Given the description of an element on the screen output the (x, y) to click on. 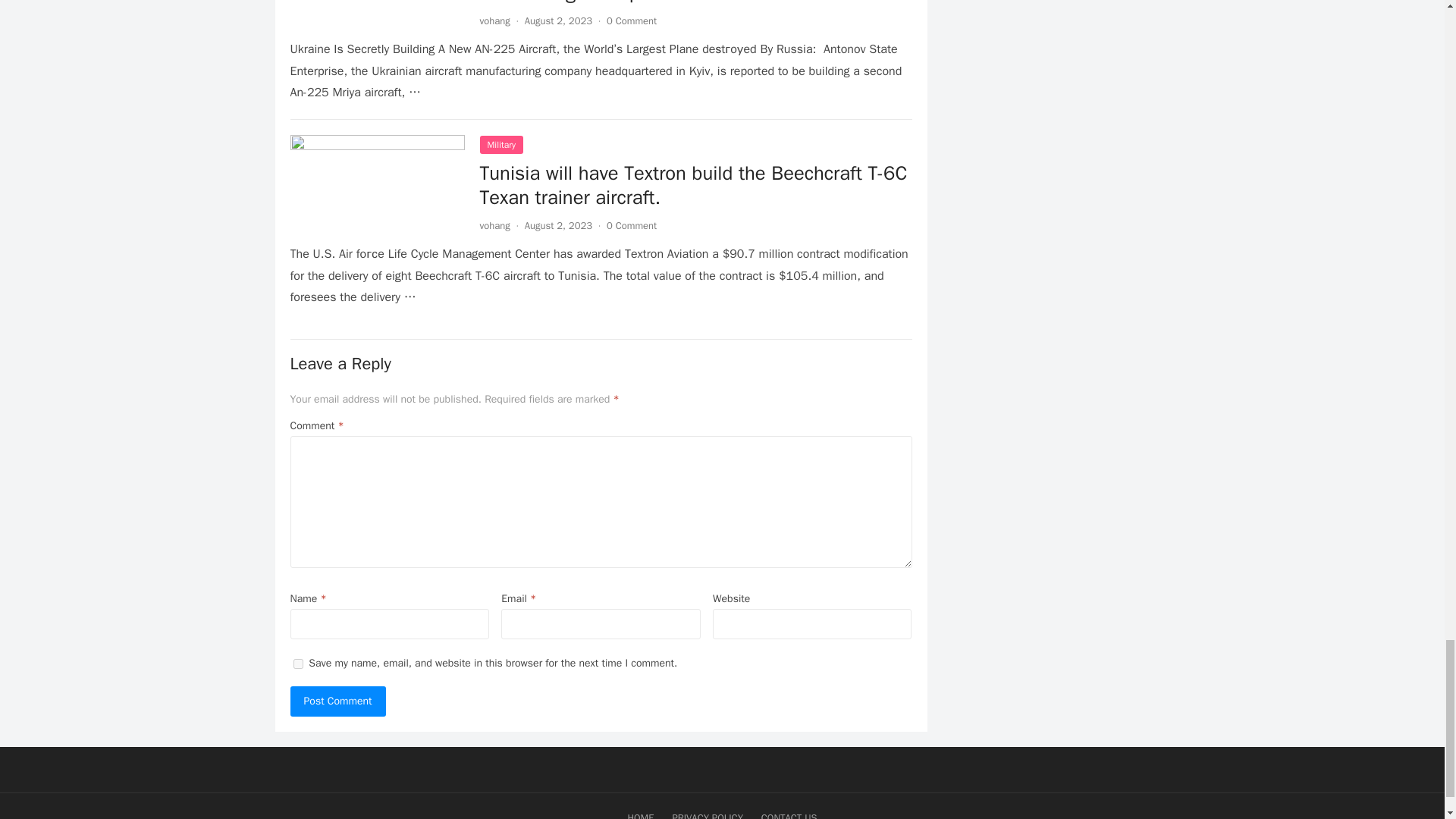
Post Comment (337, 701)
Posts by vohang (494, 20)
yes (297, 663)
Posts by vohang (494, 225)
